Given the description of an element on the screen output the (x, y) to click on. 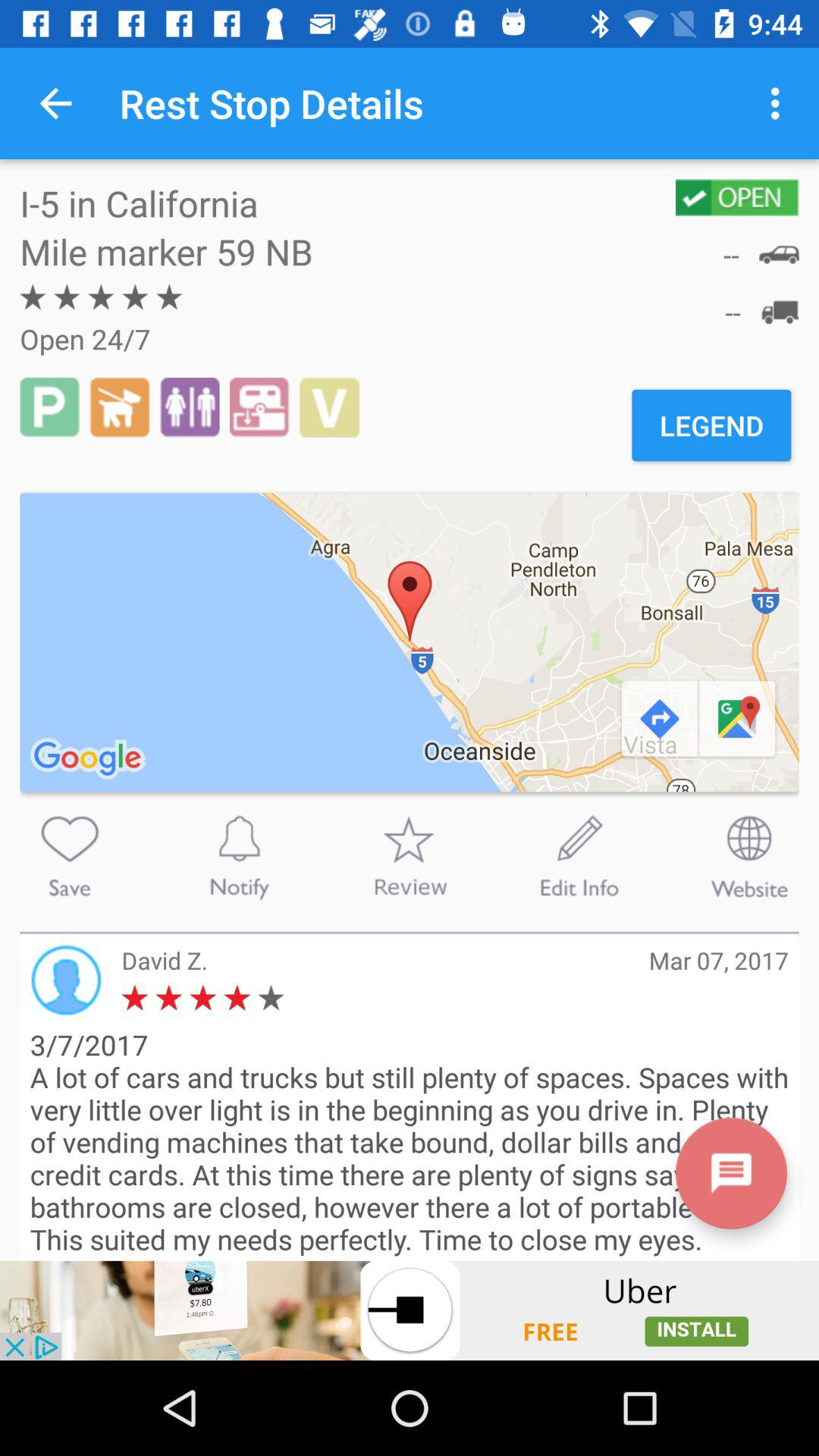
advatisment (409, 1310)
